Given the description of an element on the screen output the (x, y) to click on. 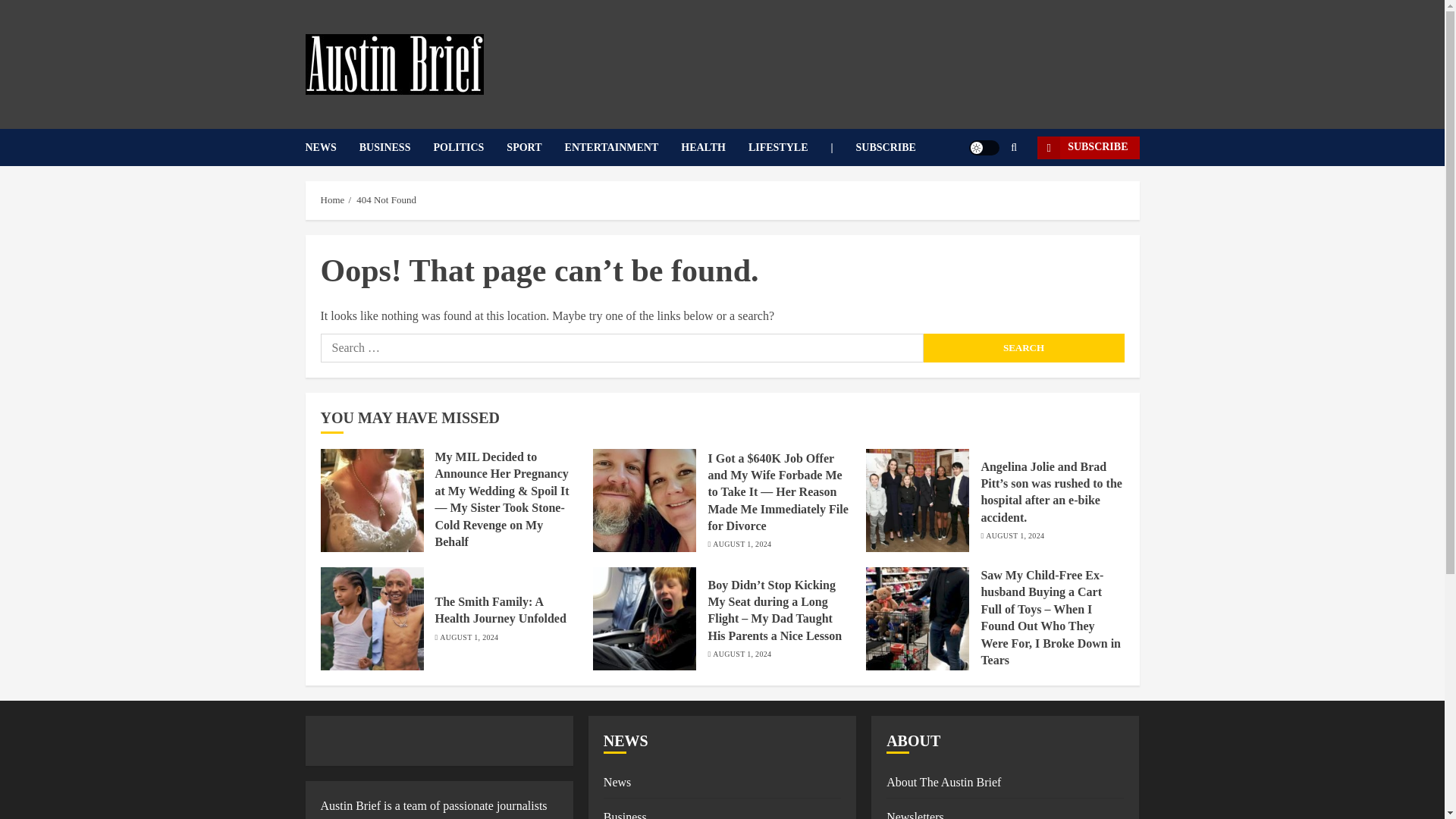
Business (625, 814)
404 Not Found (386, 200)
AUGUST 1, 2024 (1014, 535)
LIFESTYLE (789, 147)
Home (331, 200)
Search (1023, 347)
ENTERTAINMENT (622, 147)
SUBSCRIBE (1087, 147)
NEWS (331, 147)
POLITICS (469, 147)
